Given the description of an element on the screen output the (x, y) to click on. 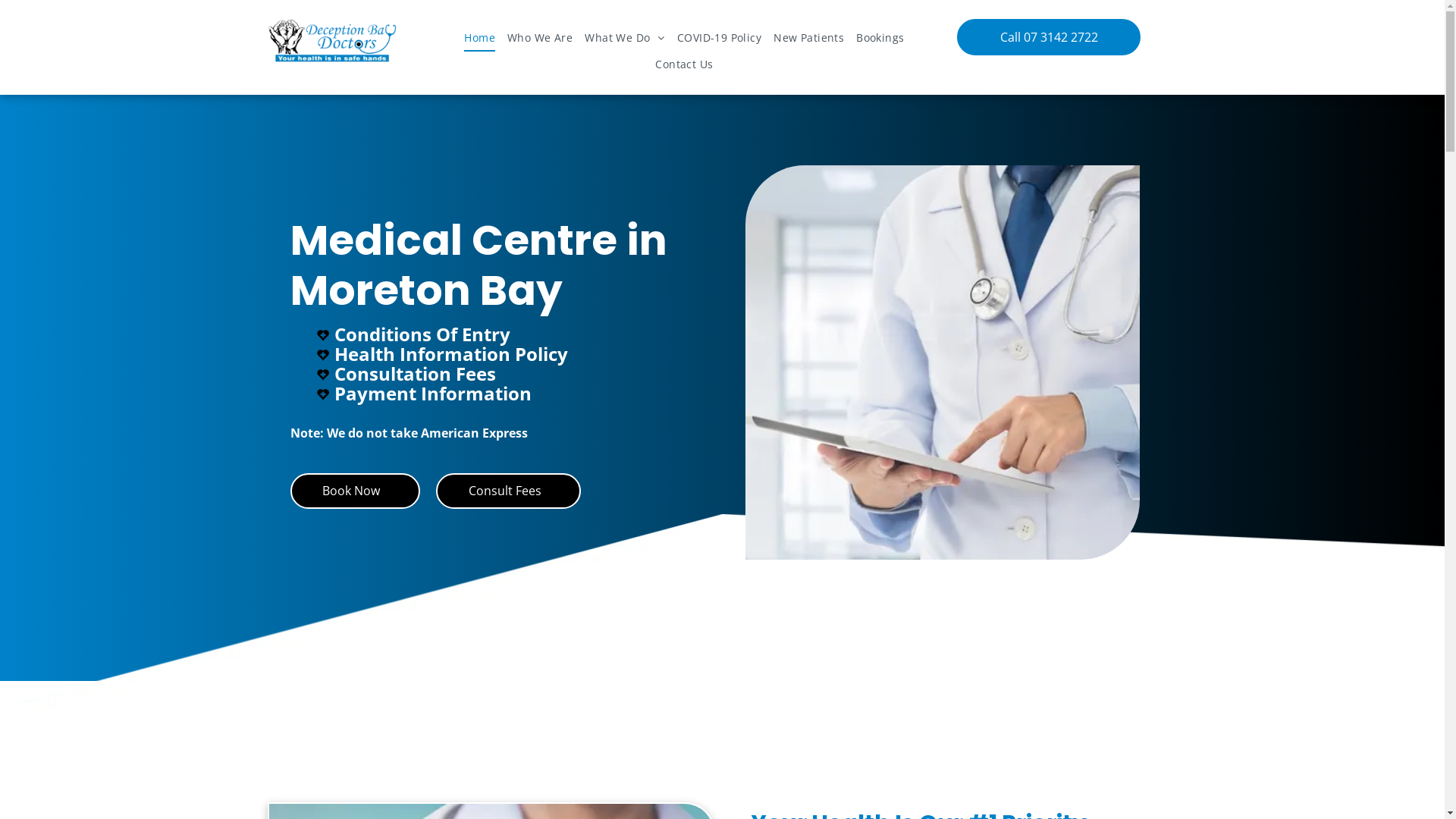
Conditions Of Entry Element type: text (421, 333)
Call 07 3142 2722 Element type: text (1048, 36)
What We Do Element type: text (624, 37)
Book Now Element type: text (354, 490)
Consultation Fees Element type: text (414, 372)
Consult Fees Element type: text (508, 490)
COVID-19 Policy Element type: text (719, 37)
New Patients Element type: text (808, 37)
Health Information Policy Element type: text (450, 353)
Payment Information Element type: text (431, 392)
Who We Are Element type: text (539, 37)
Home Element type: text (479, 37)
Bookings Element type: text (880, 37)
Contact Us Element type: text (683, 64)
